Given the description of an element on the screen output the (x, y) to click on. 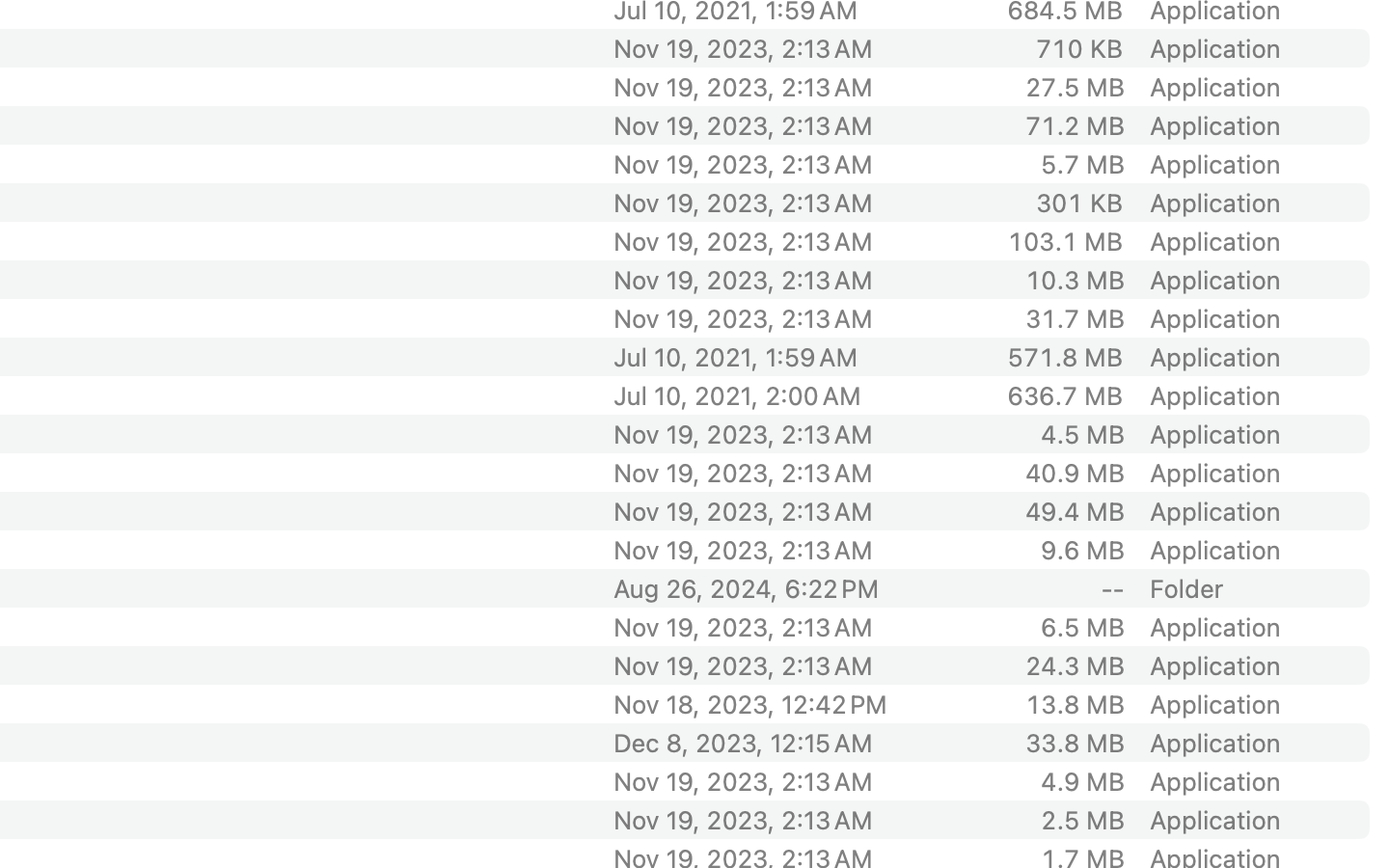
4.5 MB Element type: AXStaticText (1081, 433)
2.5 MB Element type: AXStaticText (1081, 819)
Jul 10, 2021, 2:00 AM Element type: AXStaticText (774, 394)
31.7 MB Element type: AXStaticText (1074, 317)
